Given the description of an element on the screen output the (x, y) to click on. 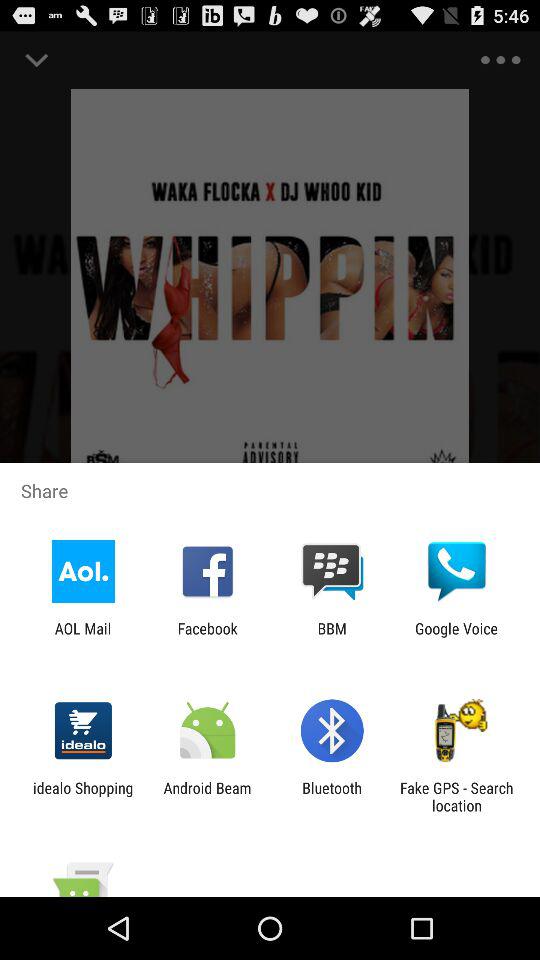
turn on the facebook icon (207, 637)
